Given the description of an element on the screen output the (x, y) to click on. 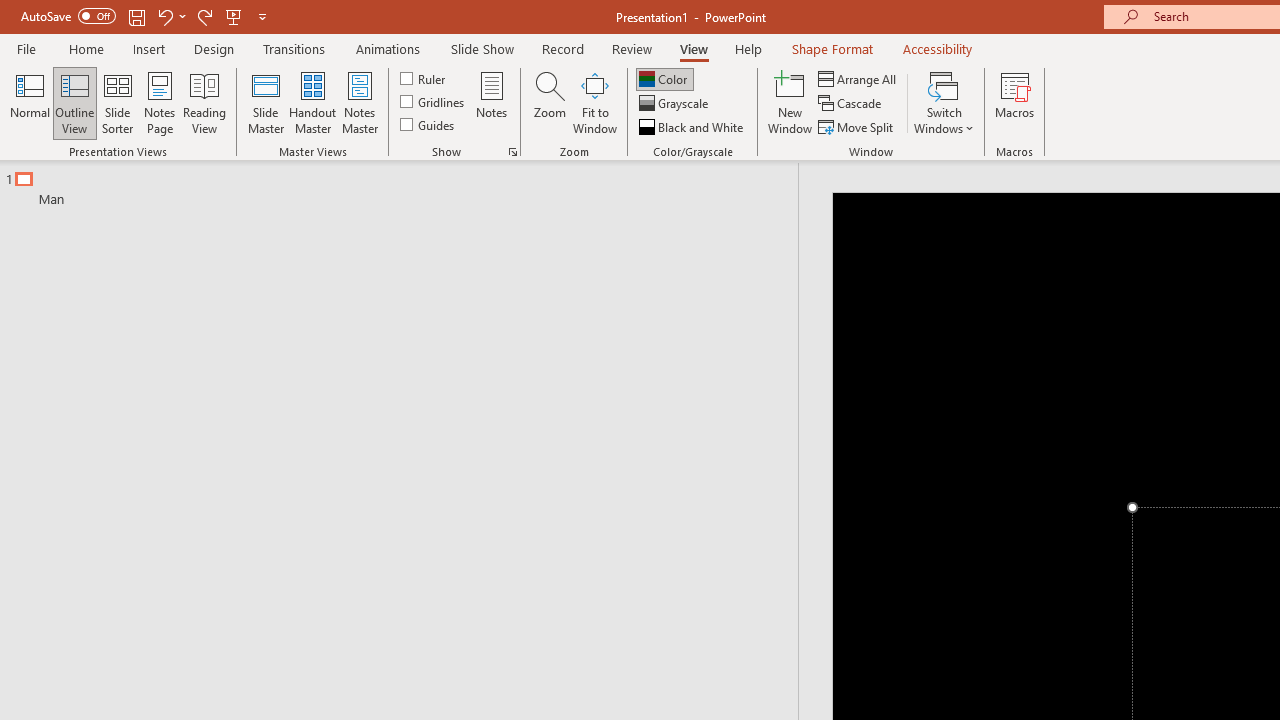
Cascade (851, 103)
Gridlines (433, 101)
Guides (428, 124)
Notes (492, 102)
New Window (790, 102)
Grid Settings... (512, 151)
